Given the description of an element on the screen output the (x, y) to click on. 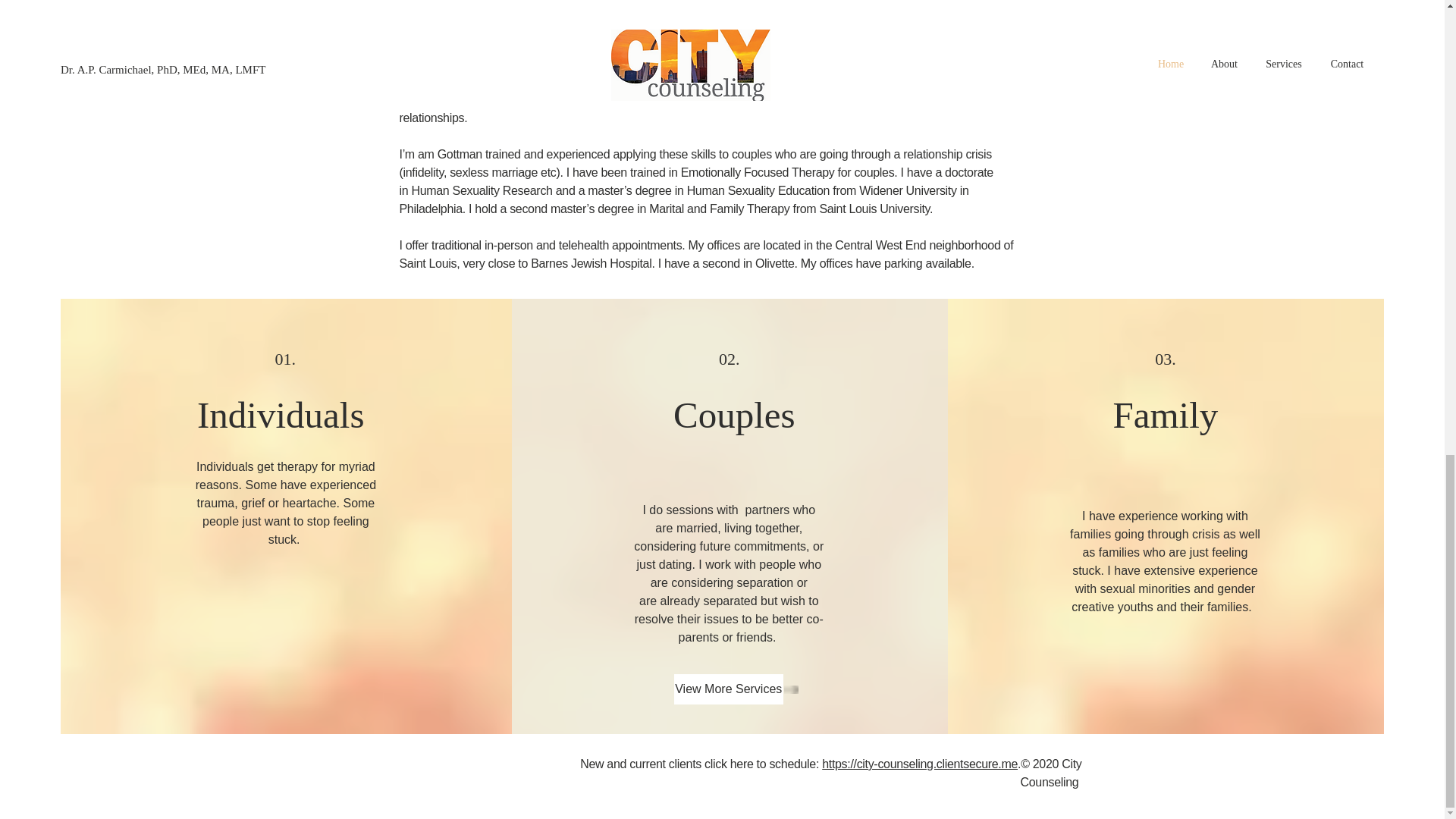
View More Services (728, 689)
Family (1165, 414)
Couples (733, 414)
Individuals  (285, 414)
